Given the description of an element on the screen output the (x, y) to click on. 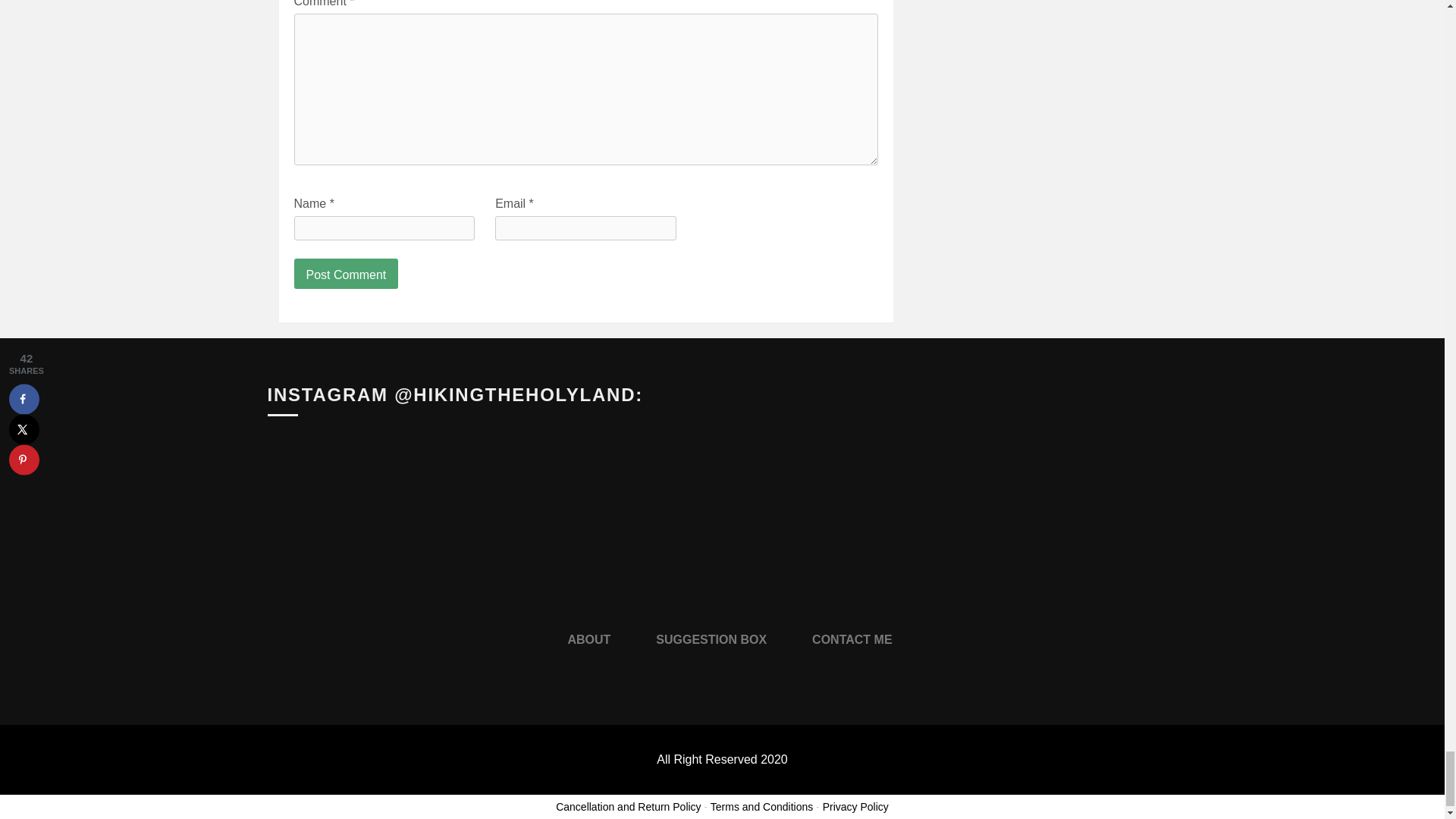
Post Comment (346, 273)
